Given the description of an element on the screen output the (x, y) to click on. 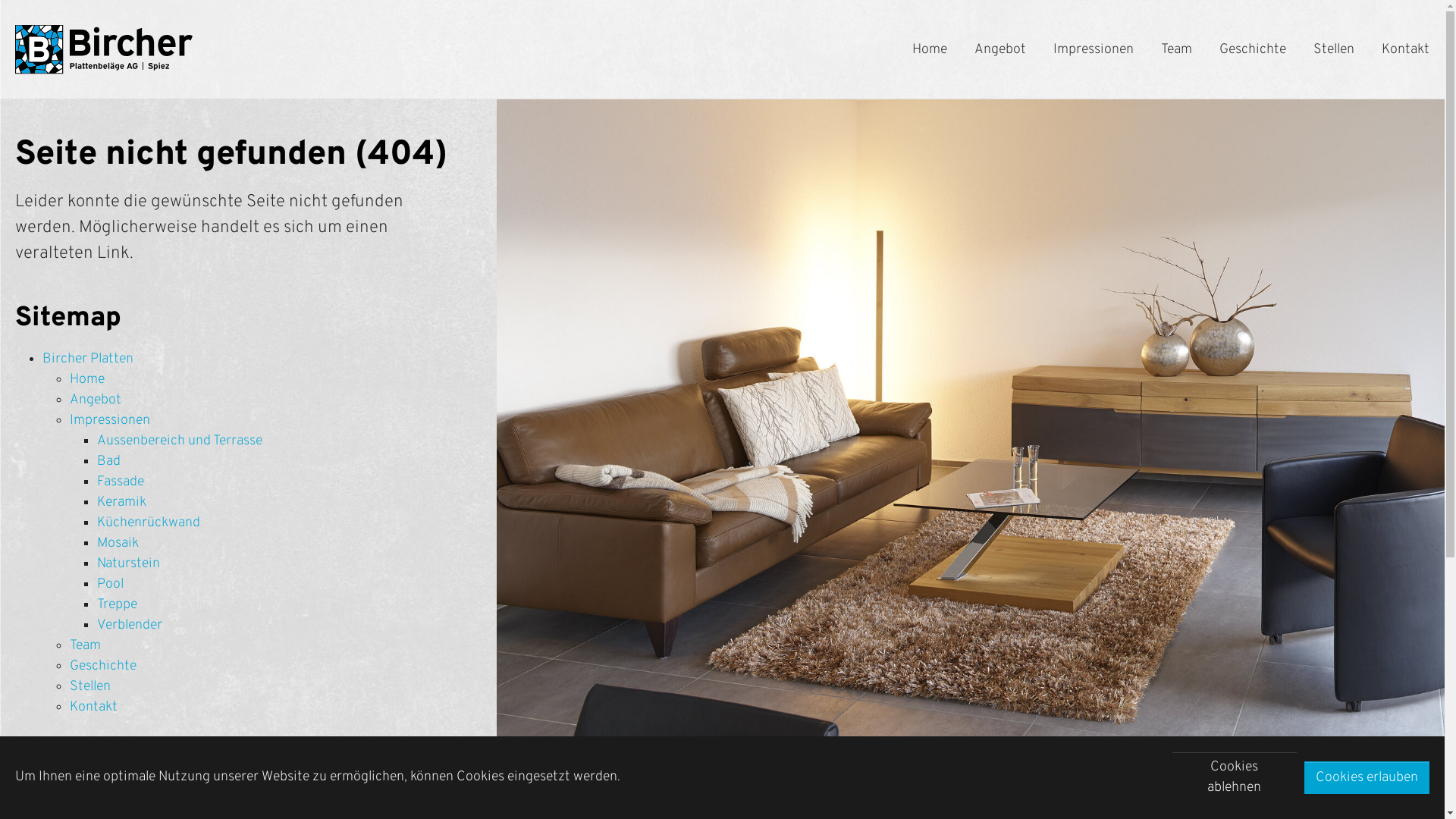
Treppe Element type: text (117, 604)
Verblender Element type: text (129, 624)
Bad Element type: text (108, 461)
Team Element type: text (84, 645)
Keramik Element type: text (121, 502)
Team Element type: text (1176, 48)
Stellen Element type: text (1333, 48)
Mosaik Element type: text (117, 543)
Cookies ablehnen Element type: text (1234, 776)
Cookies erlauben Element type: text (1367, 777)
Angebot Element type: text (999, 48)
Angebot Element type: text (95, 399)
Kontakt Element type: text (93, 706)
Aussenbereich und Terrasse Element type: text (179, 440)
Stellen Element type: text (89, 686)
Fassade Element type: text (120, 481)
Pool Element type: text (110, 584)
Kontakt Element type: text (1405, 48)
Naturstein Element type: text (128, 563)
Home Element type: text (86, 379)
Bircher Platten Element type: text (87, 358)
Home Element type: text (929, 48)
Geschichte Element type: text (102, 665)
Impressionen Element type: text (109, 420)
Impressionen Element type: text (1093, 48)
Geschichte Element type: text (1252, 48)
